Given the description of an element on the screen output the (x, y) to click on. 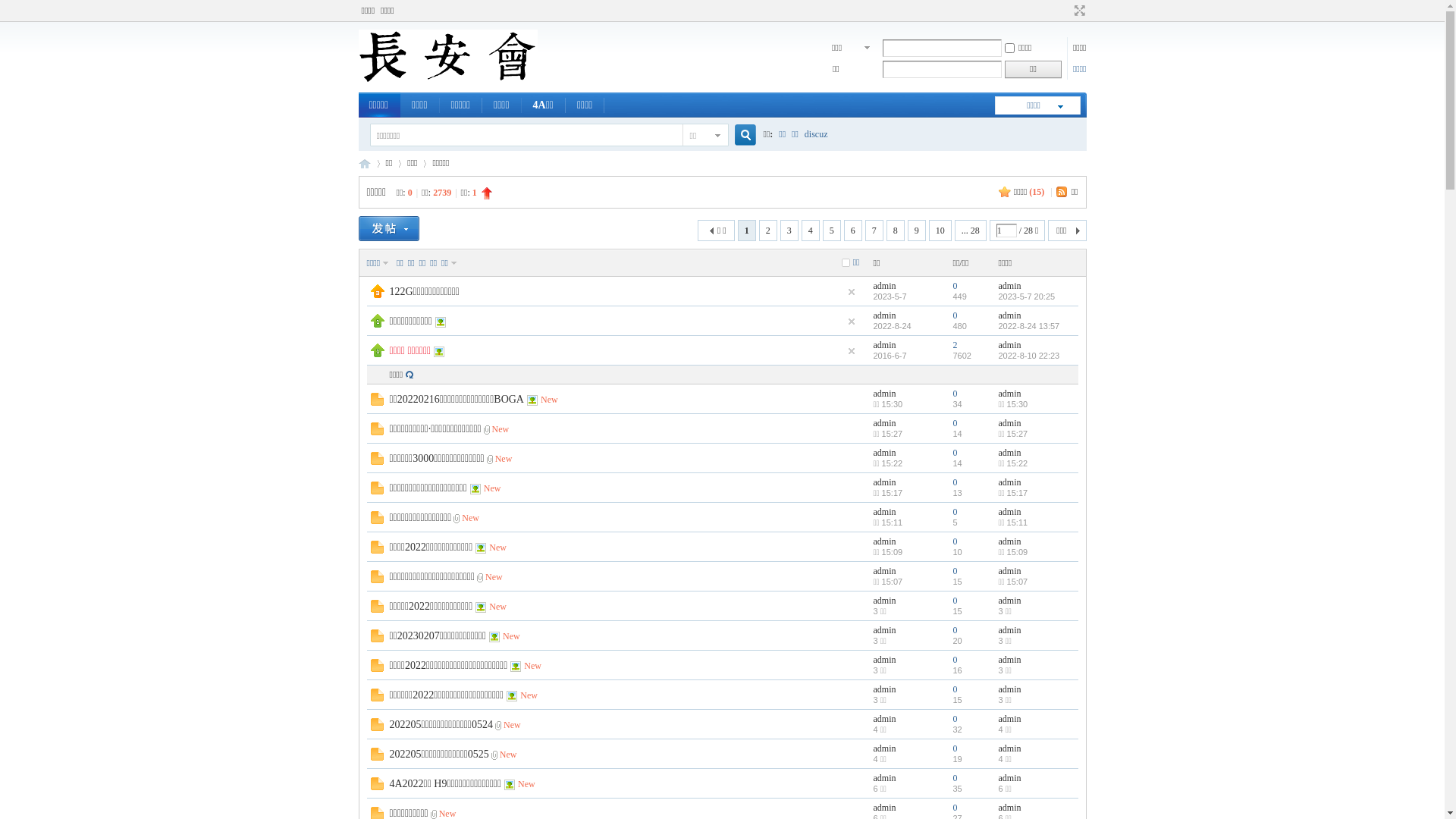
admin Element type: text (884, 570)
admin Element type: text (1008, 452)
New Element type: text (511, 635)
New Element type: text (493, 576)
New Element type: text (511, 723)
admin Element type: text (884, 422)
New Element type: text (503, 458)
2022-8-10 22:23 Element type: text (1028, 355)
admin Element type: text (1008, 807)
0 Element type: text (954, 718)
0 Element type: text (954, 511)
admin Element type: text (1008, 748)
New Element type: text (470, 517)
0 Element type: text (954, 570)
2022-8-24 13:57 Element type: text (1028, 325)
0 Element type: text (954, 659)
admin Element type: text (884, 777)
8 Element type: text (895, 230)
true Element type: text (738, 135)
0 Element type: text (954, 452)
New Element type: text (549, 399)
0 Element type: text (954, 541)
0 Element type: text (954, 807)
0 Element type: text (954, 600)
0 Element type: text (954, 393)
New Element type: text (528, 695)
0 Element type: text (954, 777)
0 Element type: text (954, 285)
admin Element type: text (884, 600)
admin Element type: text (1008, 285)
admin Element type: text (1008, 541)
New Element type: text (497, 605)
0 Element type: text (954, 689)
admin Element type: text (884, 452)
admin Element type: text (884, 541)
admin Element type: text (1008, 629)
0 Element type: text (954, 629)
admin Element type: text (884, 718)
admin Element type: text (884, 393)
3 Element type: text (789, 230)
admin Element type: text (1008, 422)
New Element type: text (492, 487)
New Element type: text (526, 783)
9 Element type: text (916, 230)
0 Element type: text (954, 422)
admin Element type: text (884, 315)
New Element type: text (508, 754)
0 Element type: text (954, 748)
New Element type: text (500, 428)
admin Element type: text (1008, 600)
admin Element type: text (1008, 689)
admin Element type: text (1008, 481)
admin Element type: text (884, 689)
admin Element type: text (884, 807)
admin Element type: text (884, 748)
admin Element type: text (884, 511)
admin Element type: text (1008, 718)
admin Element type: text (1008, 570)
admin Element type: text (1008, 777)
discuz Element type: text (816, 134)
admin Element type: text (1008, 393)
admin Element type: text (1008, 344)
2023-5-7 20:25 Element type: text (1025, 296)
7 Element type: text (874, 230)
2 Element type: text (768, 230)
0 Element type: text (954, 481)
admin Element type: text (884, 285)
admin Element type: text (884, 344)
admin Element type: text (884, 481)
2 Element type: text (954, 344)
admin Element type: text (1008, 659)
... 28 Element type: text (970, 230)
New Element type: text (532, 664)
5 Element type: text (831, 230)
New Element type: text (497, 546)
admin Element type: text (1008, 315)
4 Element type: text (810, 230)
admin Element type: text (884, 659)
admin Element type: text (1008, 511)
0 Element type: text (954, 315)
10 Element type: text (939, 230)
admin Element type: text (884, 629)
6 Element type: text (853, 230)
